Given the description of an element on the screen output the (x, y) to click on. 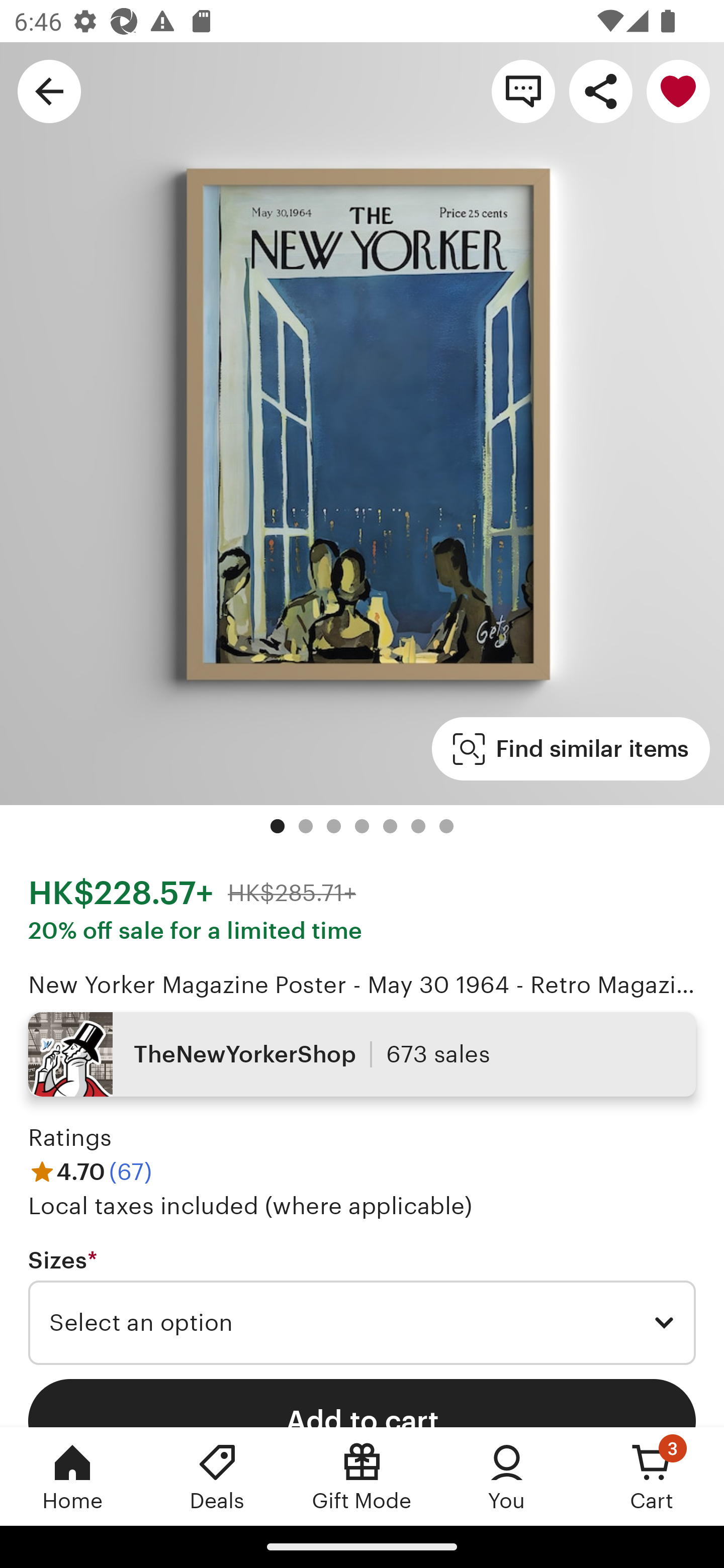
Navigate up (49, 90)
Contact shop (523, 90)
Share (600, 90)
Find similar items (571, 748)
TheNewYorkerShop 673 sales (361, 1054)
Ratings (70, 1137)
4.70 (67) (90, 1171)
Sizes * Required Select an option (361, 1306)
Select an option (361, 1323)
Deals (216, 1475)
Gift Mode (361, 1475)
You (506, 1475)
Cart, 3 new notifications Cart (651, 1475)
